Given the description of an element on the screen output the (x, y) to click on. 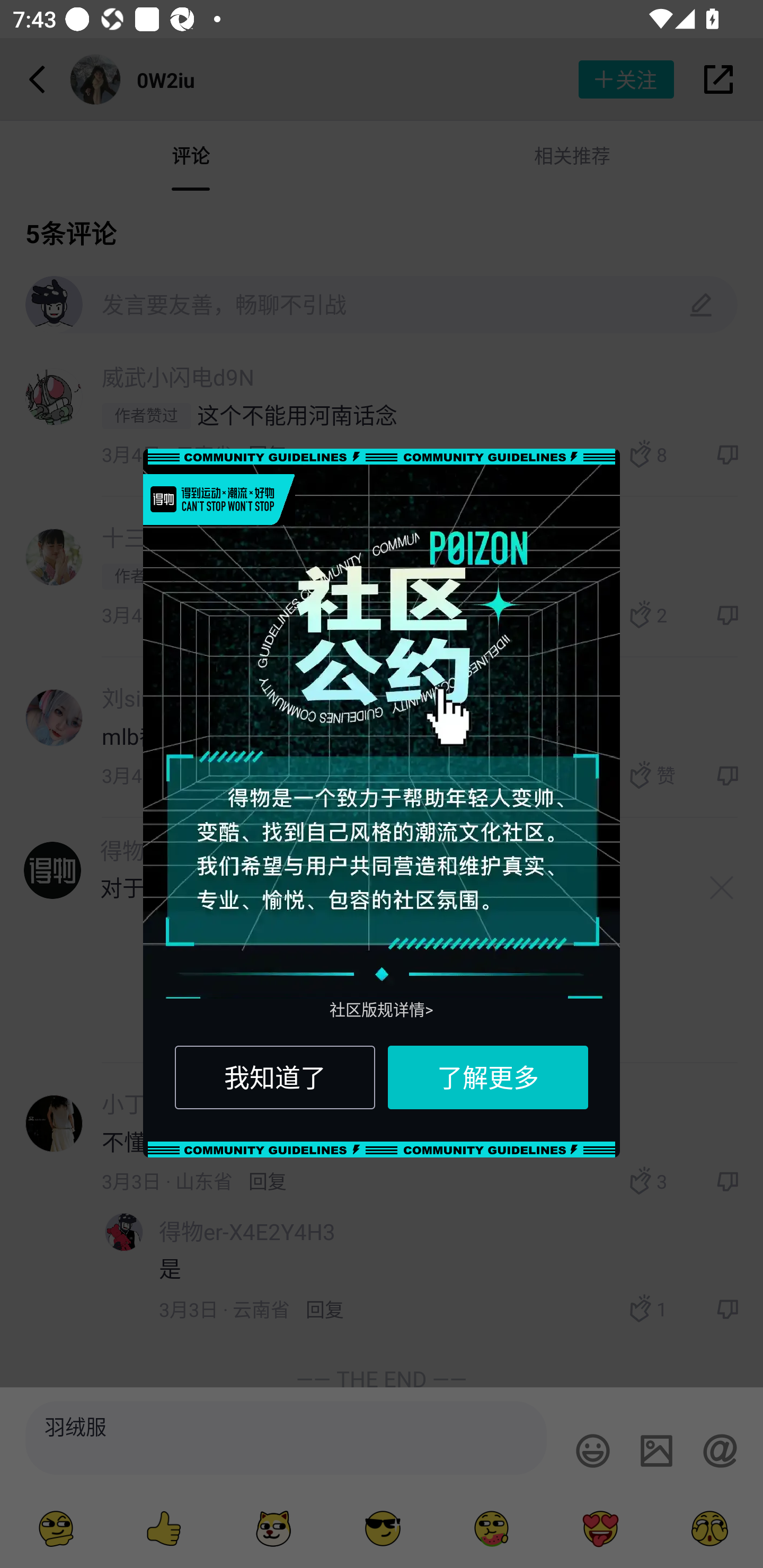
社区版规详情> (381, 1009)
我知道了 (274, 1076)
了解更多 (487, 1076)
